Given the description of an element on the screen output the (x, y) to click on. 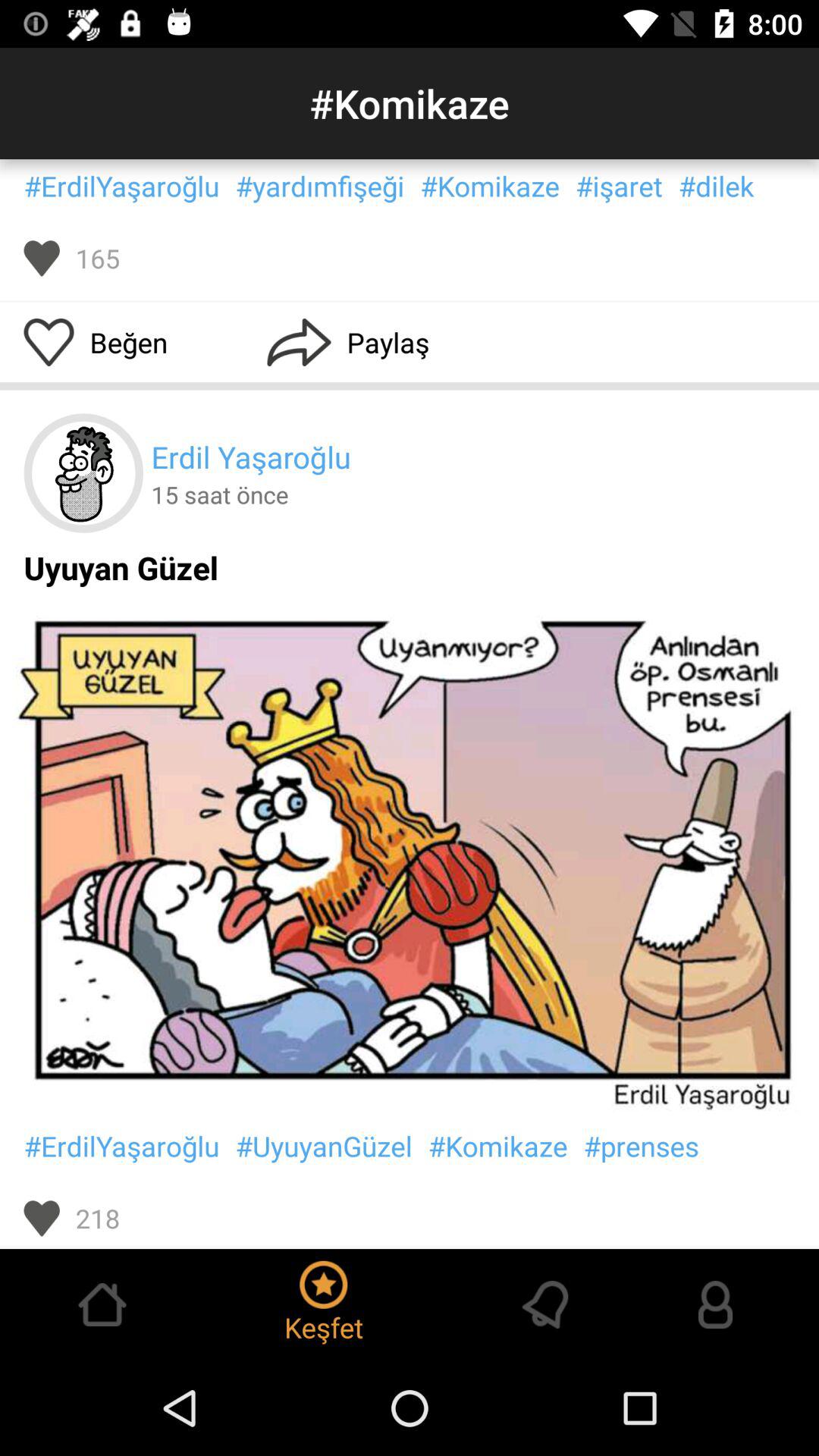
select icon next to the #komikaze item (640, 1145)
